Given the description of an element on the screen output the (x, y) to click on. 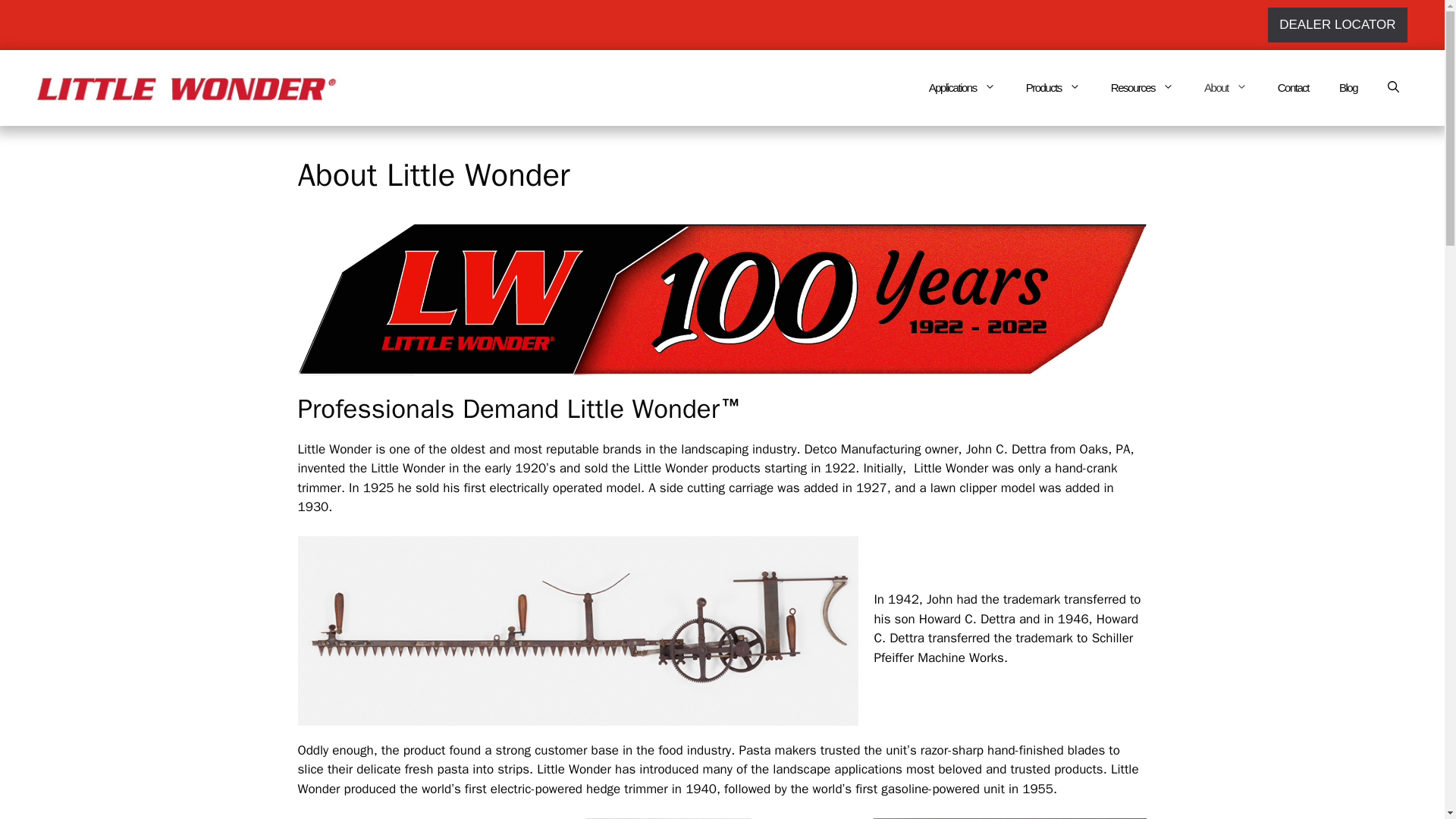
Resources (1142, 87)
Applications (962, 87)
DEALER LOCATOR (1336, 24)
1922 Little Wonder - John C. Dettra (578, 630)
Products (1053, 87)
LW 100 Year Logo (722, 298)
About (1225, 87)
